Given the description of an element on the screen output the (x, y) to click on. 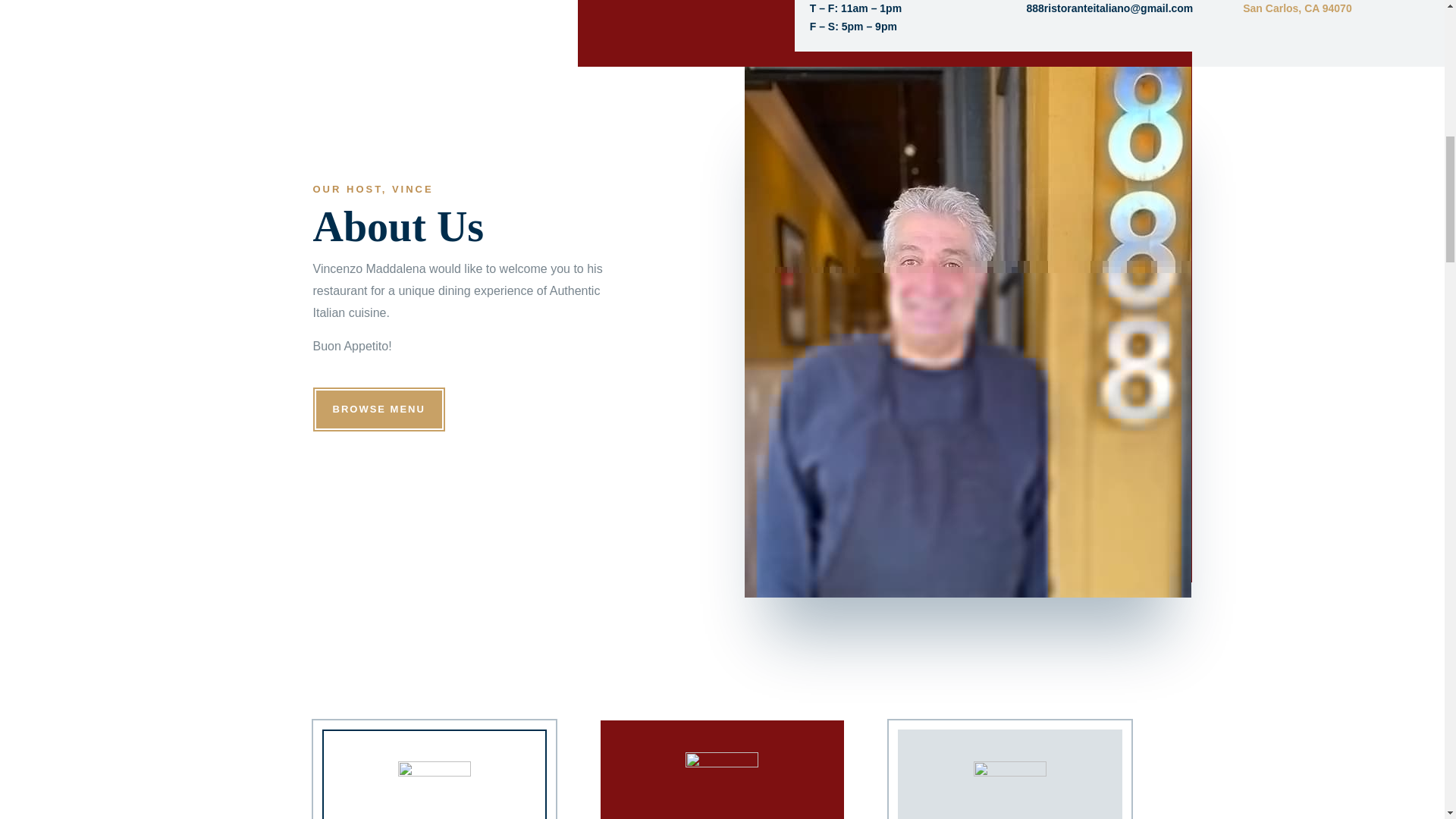
BROWSE MENU (378, 409)
San Carlos, CA 94070 (1297, 8)
